Given the description of an element on the screen output the (x, y) to click on. 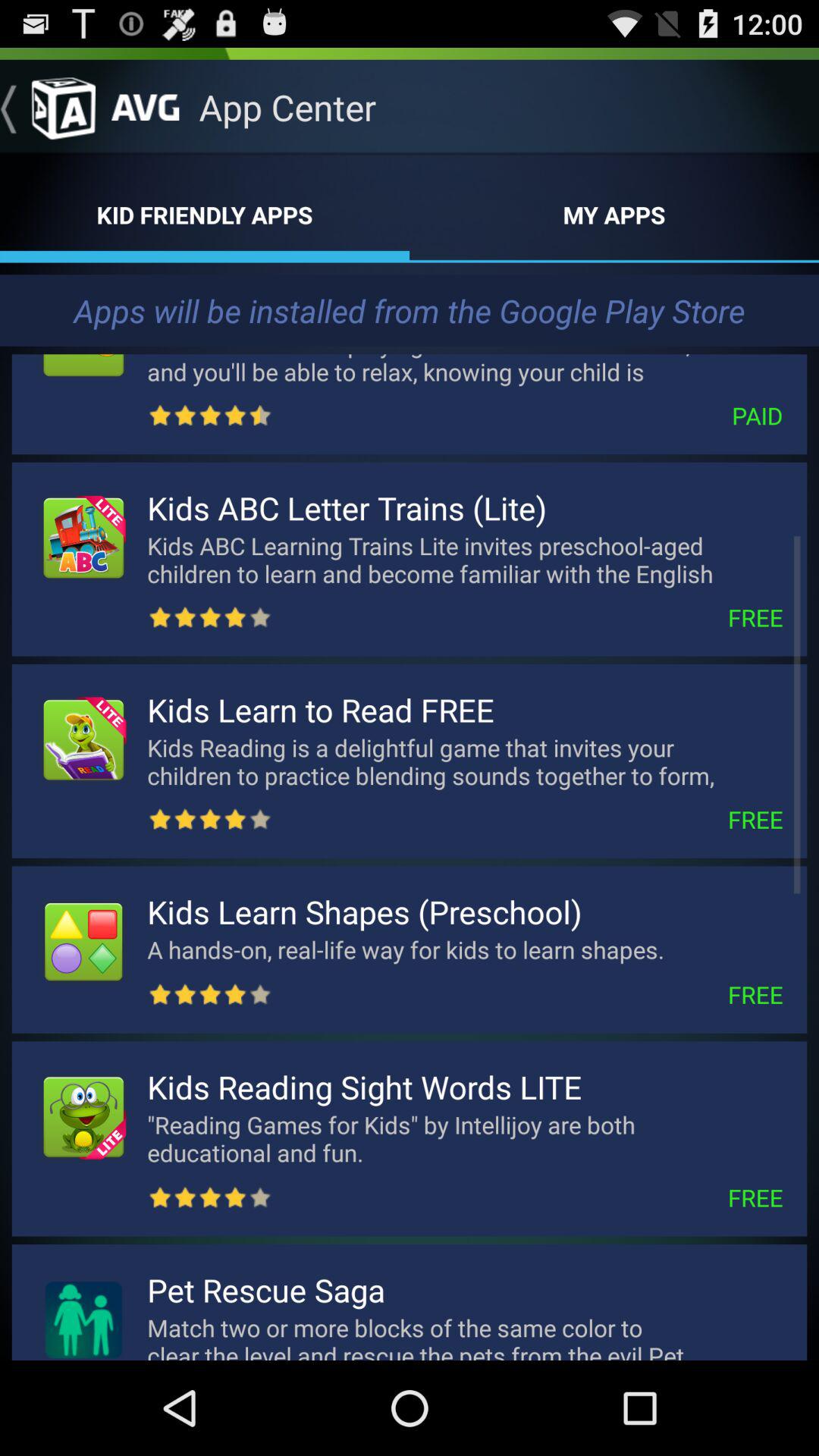
turn off the item below the kids reading sight icon (465, 1138)
